Given the description of an element on the screen output the (x, y) to click on. 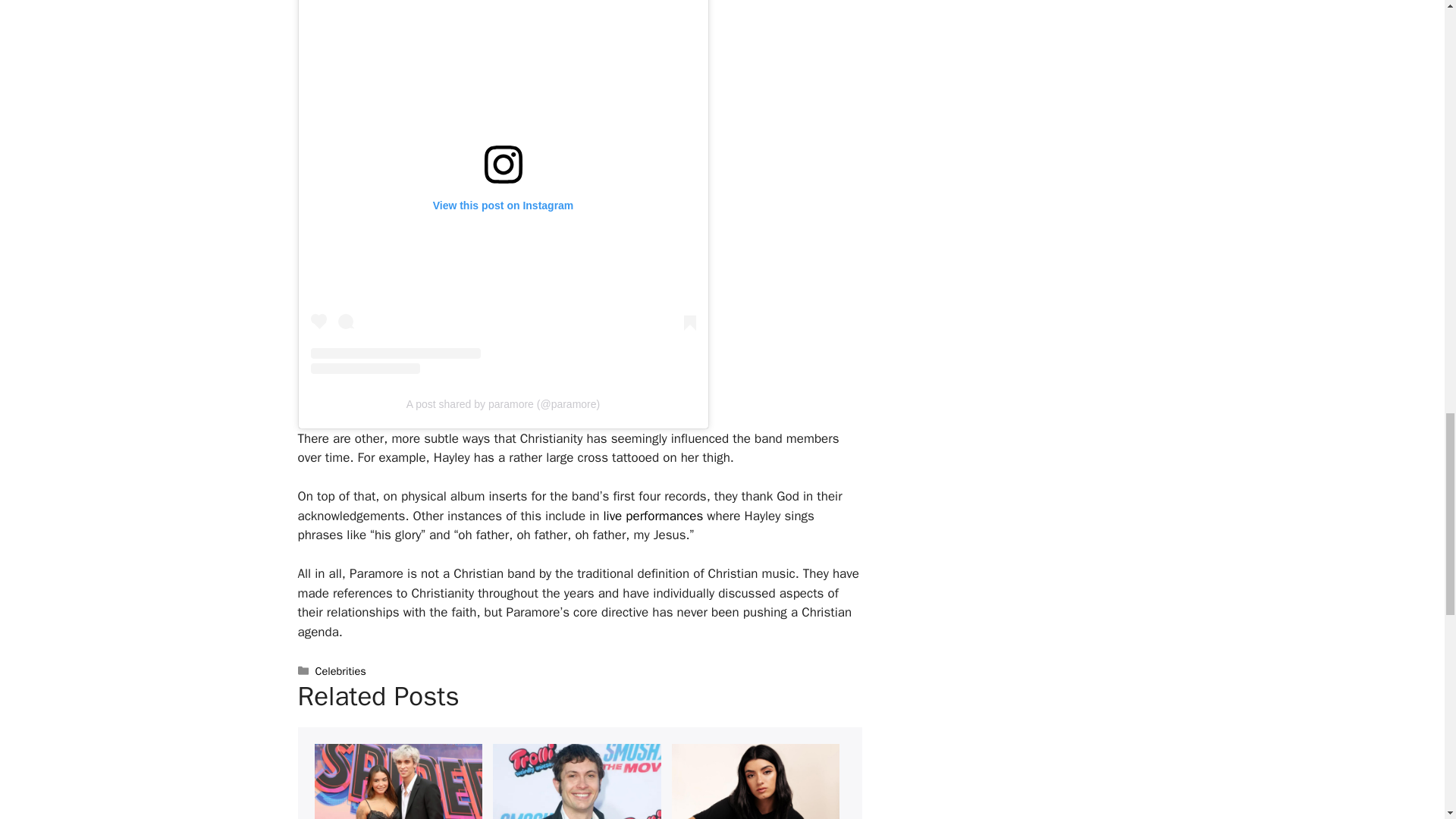
Celebrities (340, 671)
live performances (653, 515)
